Given the description of an element on the screen output the (x, y) to click on. 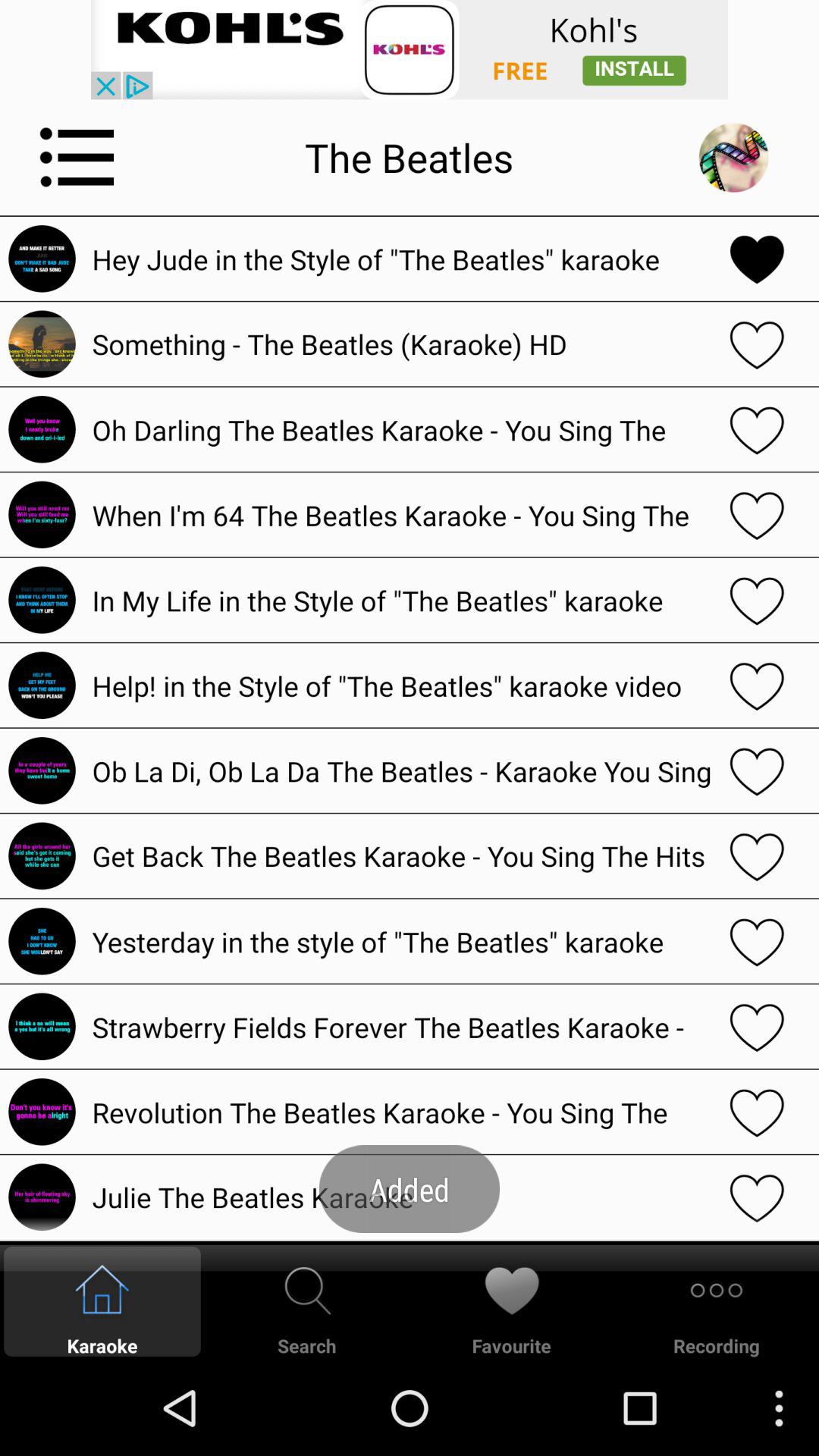
advertisement to download kohl 's app (409, 49)
